Given the description of an element on the screen output the (x, y) to click on. 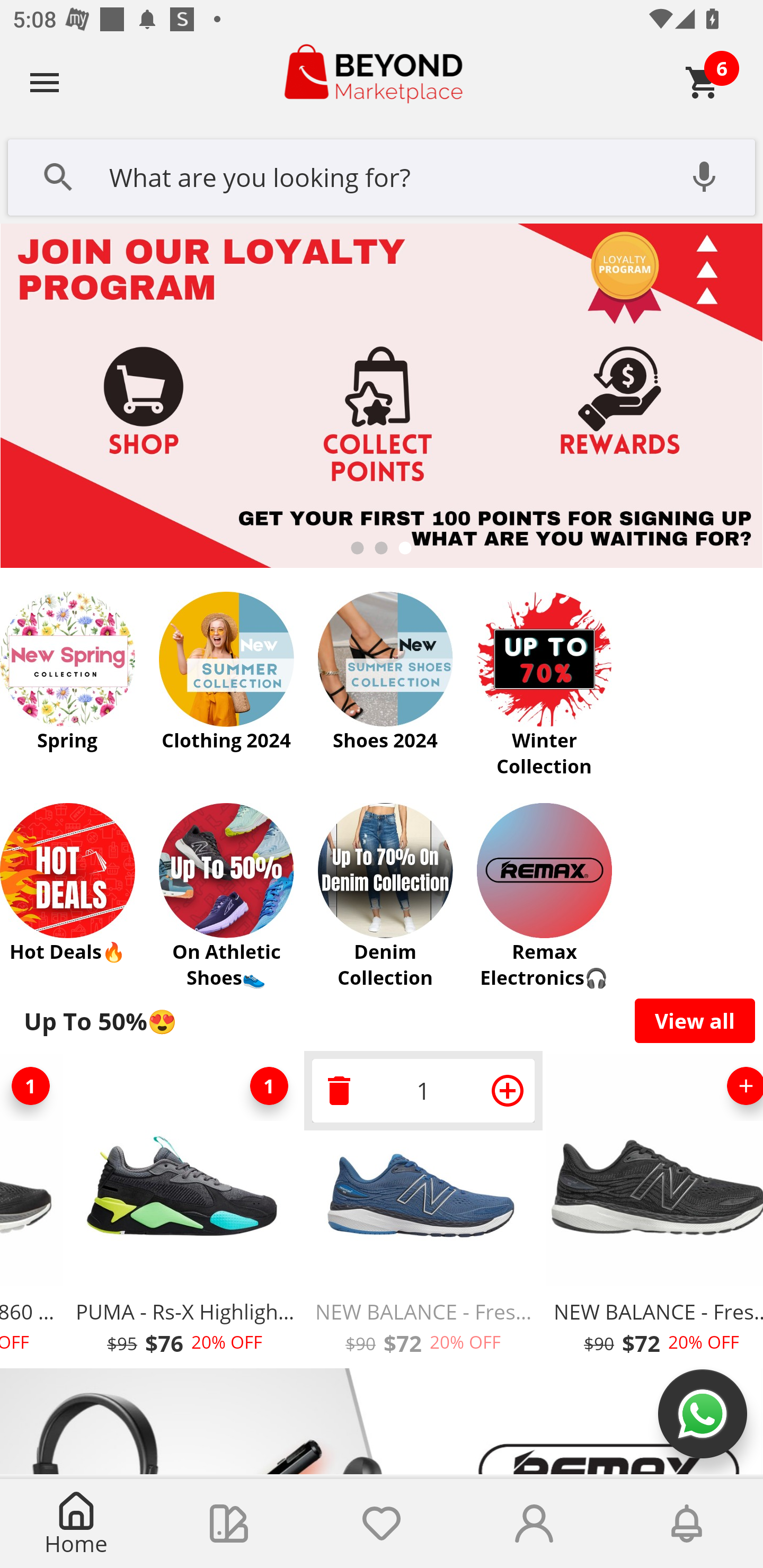
Navigate up (44, 82)
What are you looking for? (381, 175)
View all (694, 1020)
1 (32, 1085)
1 (269, 1085)
Collections (228, 1523)
Wishlist (381, 1523)
Account (533, 1523)
Notifications (686, 1523)
